Given the description of an element on the screen output the (x, y) to click on. 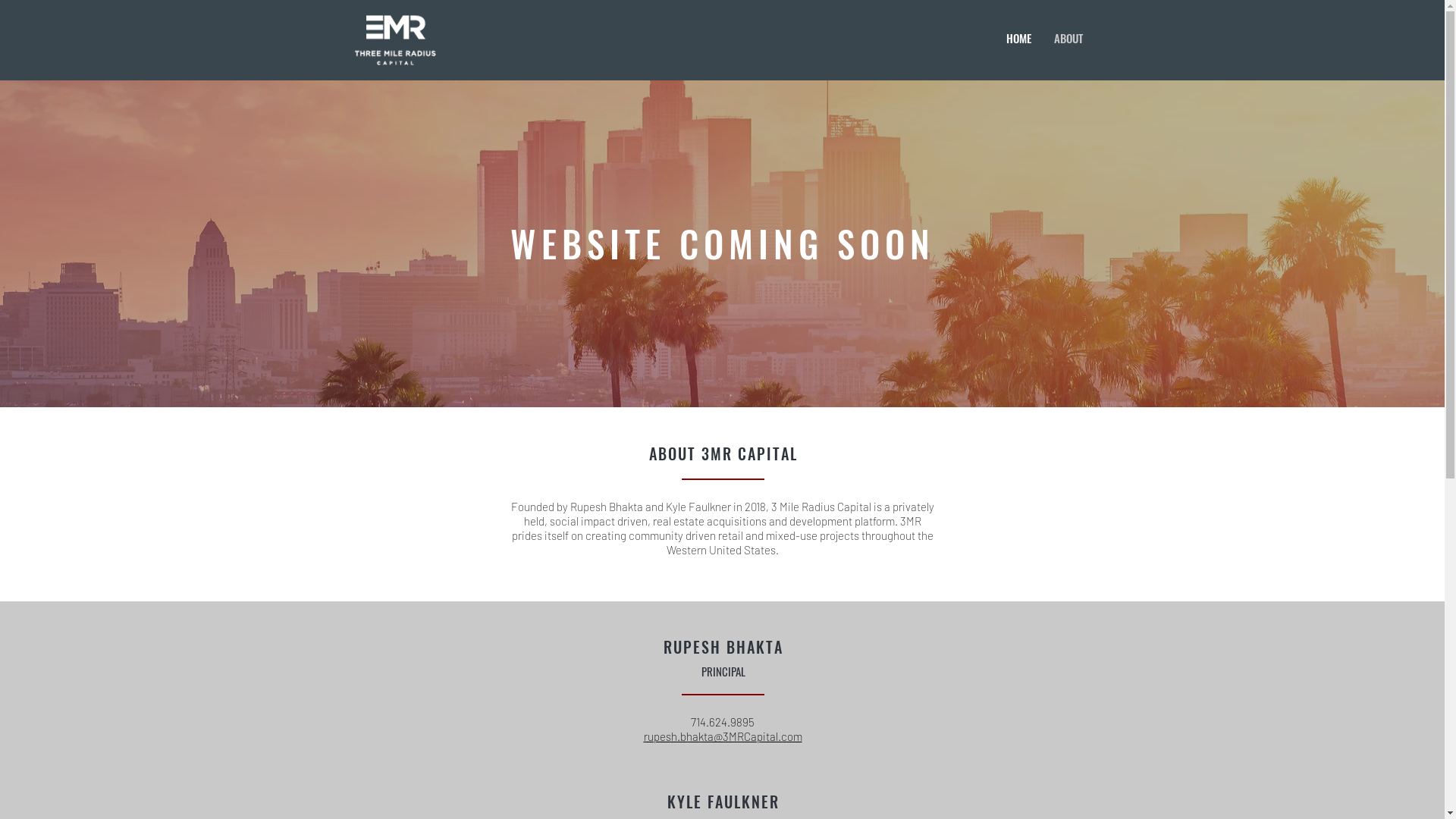
rupesh.bhakta@3MRCapital.com Element type: text (722, 736)
ABOUT Element type: text (1067, 37)
HOME Element type: text (1015, 37)
